Given the description of an element on the screen output the (x, y) to click on. 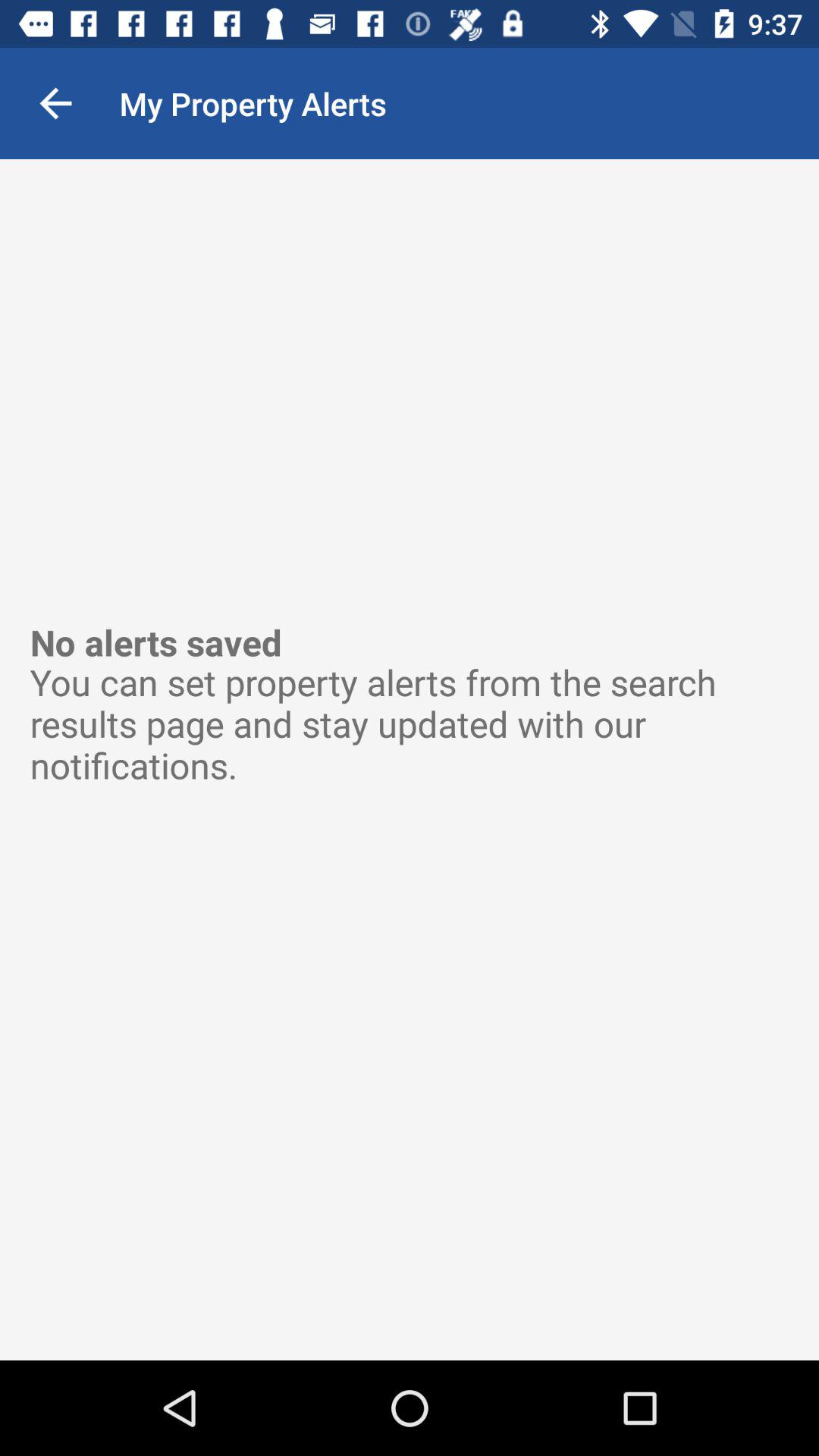
tap icon above no alerts saved (55, 103)
